Given the description of an element on the screen output the (x, y) to click on. 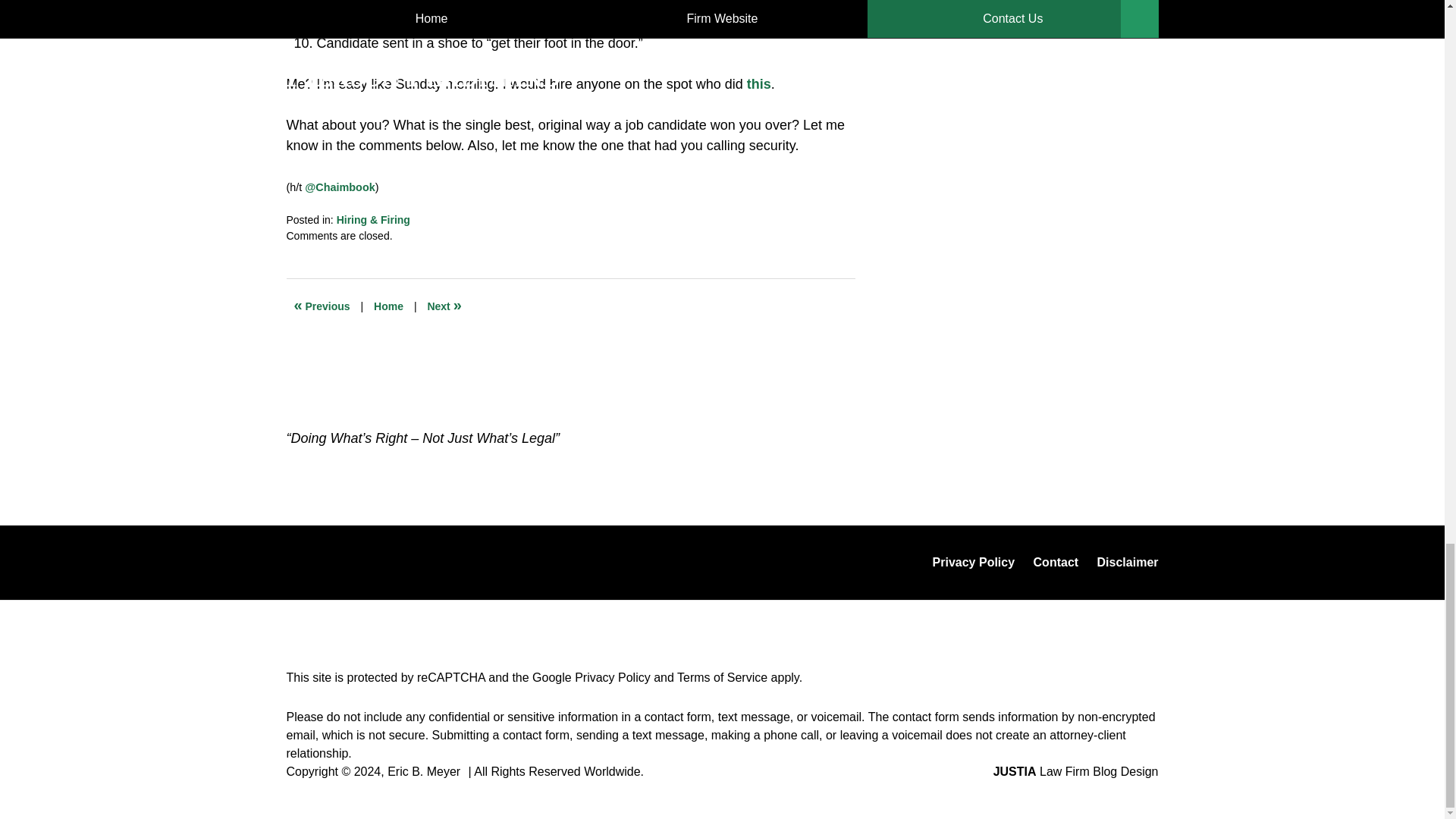
Terms of Service (722, 676)
Disclaimer (1127, 562)
JUSTIA Law Firm Blog Design (1075, 771)
this (758, 83)
Privacy Policy (612, 676)
Eric B. Meyer (423, 771)
Privacy Policy (973, 562)
Home (388, 306)
Contact (1056, 562)
